Given the description of an element on the screen output the (x, y) to click on. 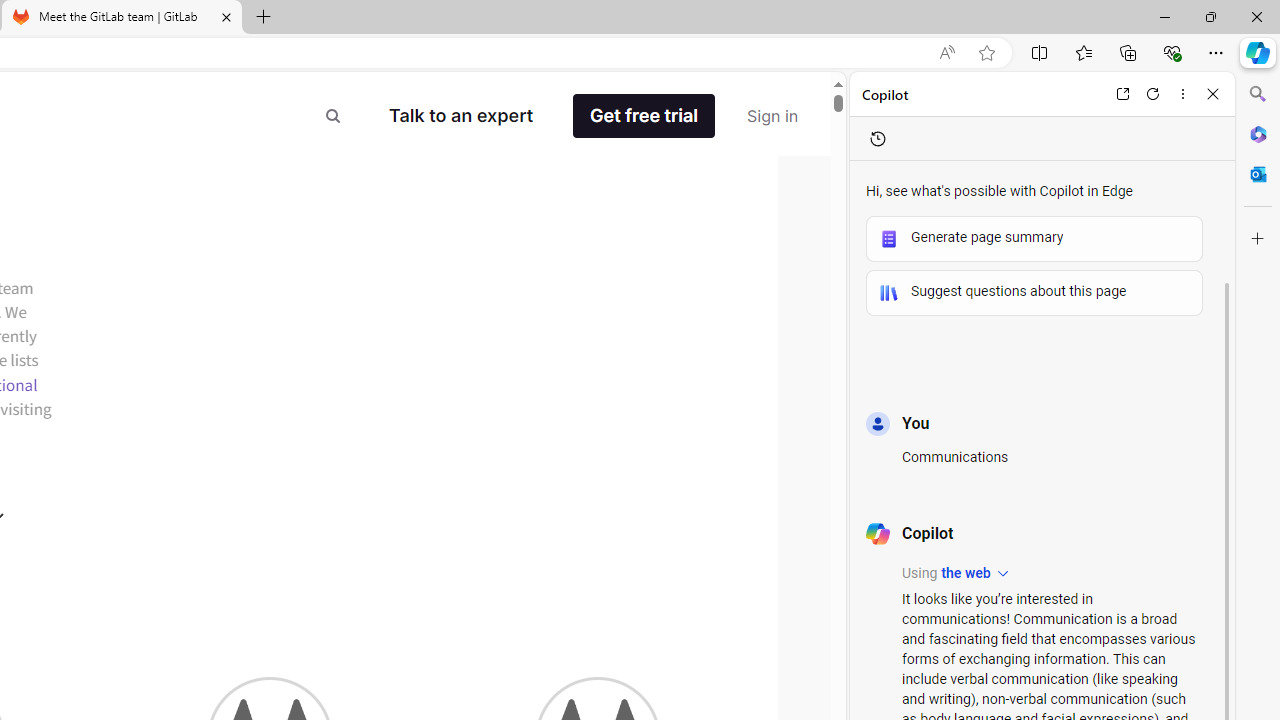
Get free trial (644, 116)
Sign in (772, 115)
